Given the description of an element on the screen output the (x, y) to click on. 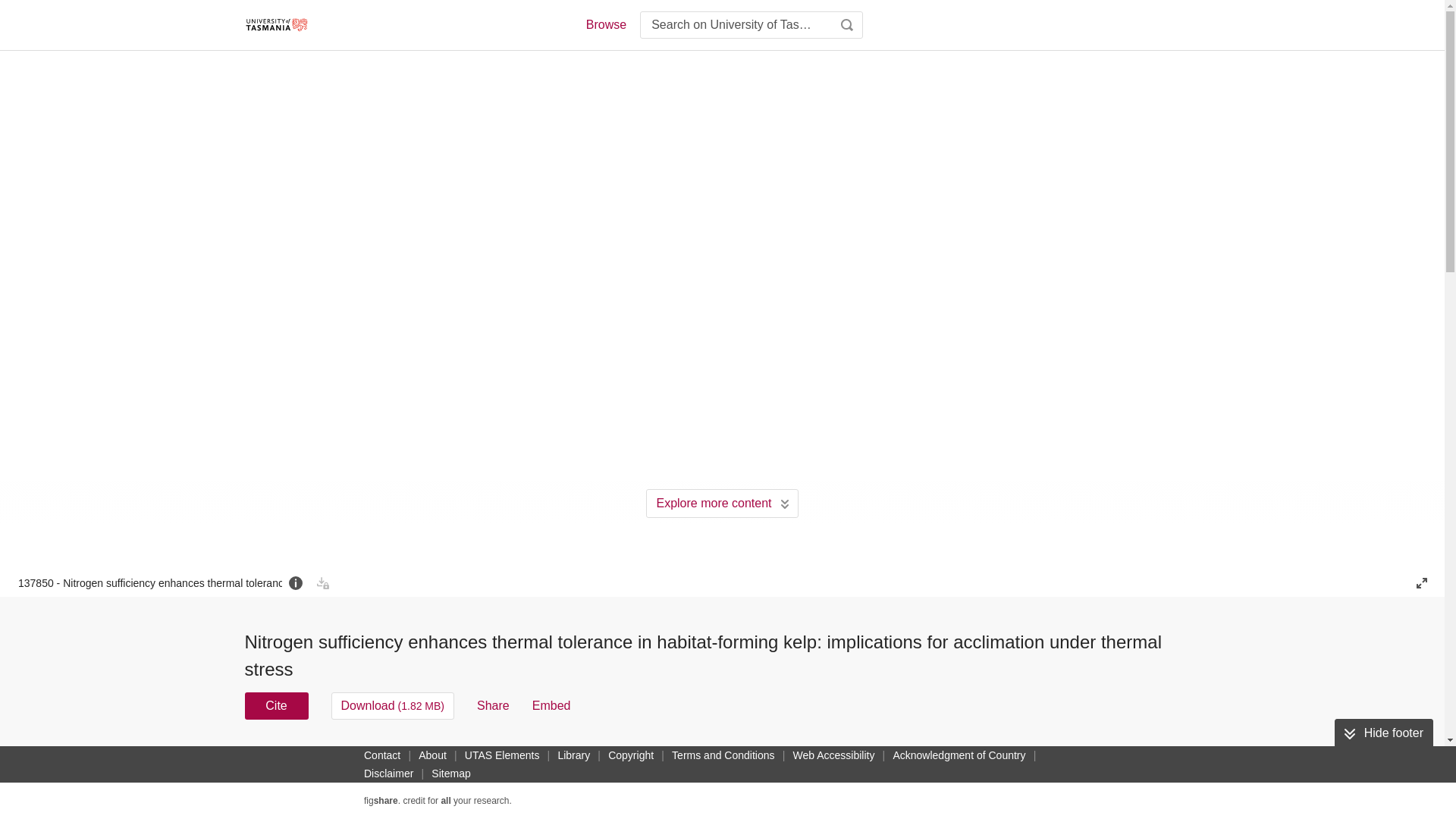
USAGE METRICS (976, 759)
Contact (381, 755)
Catriona Hurd (387, 773)
About (432, 755)
Web Accessibility (834, 755)
Copyright (631, 755)
UTAS Elements (502, 755)
Embed (551, 705)
Matthias Schmid (558, 764)
Explore more content (721, 502)
Share (493, 705)
Hide footer (1383, 733)
Browse (605, 24)
Terms and Conditions (722, 755)
